Given the description of an element on the screen output the (x, y) to click on. 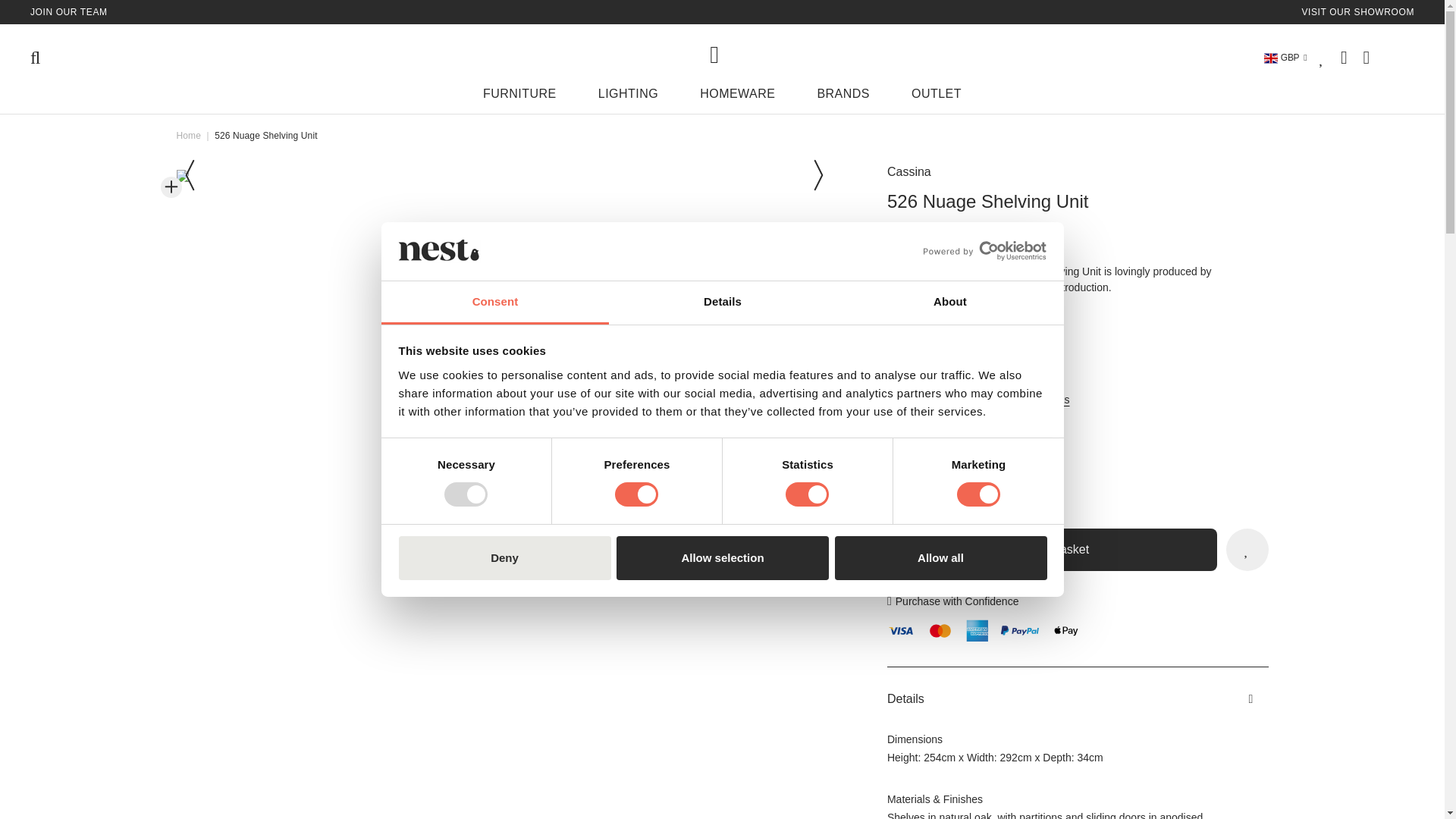
About (948, 302)
Made to order in approx. 16 weeks (987, 398)
Consent (494, 302)
Details (721, 302)
1 (949, 488)
